Given the description of an element on the screen output the (x, y) to click on. 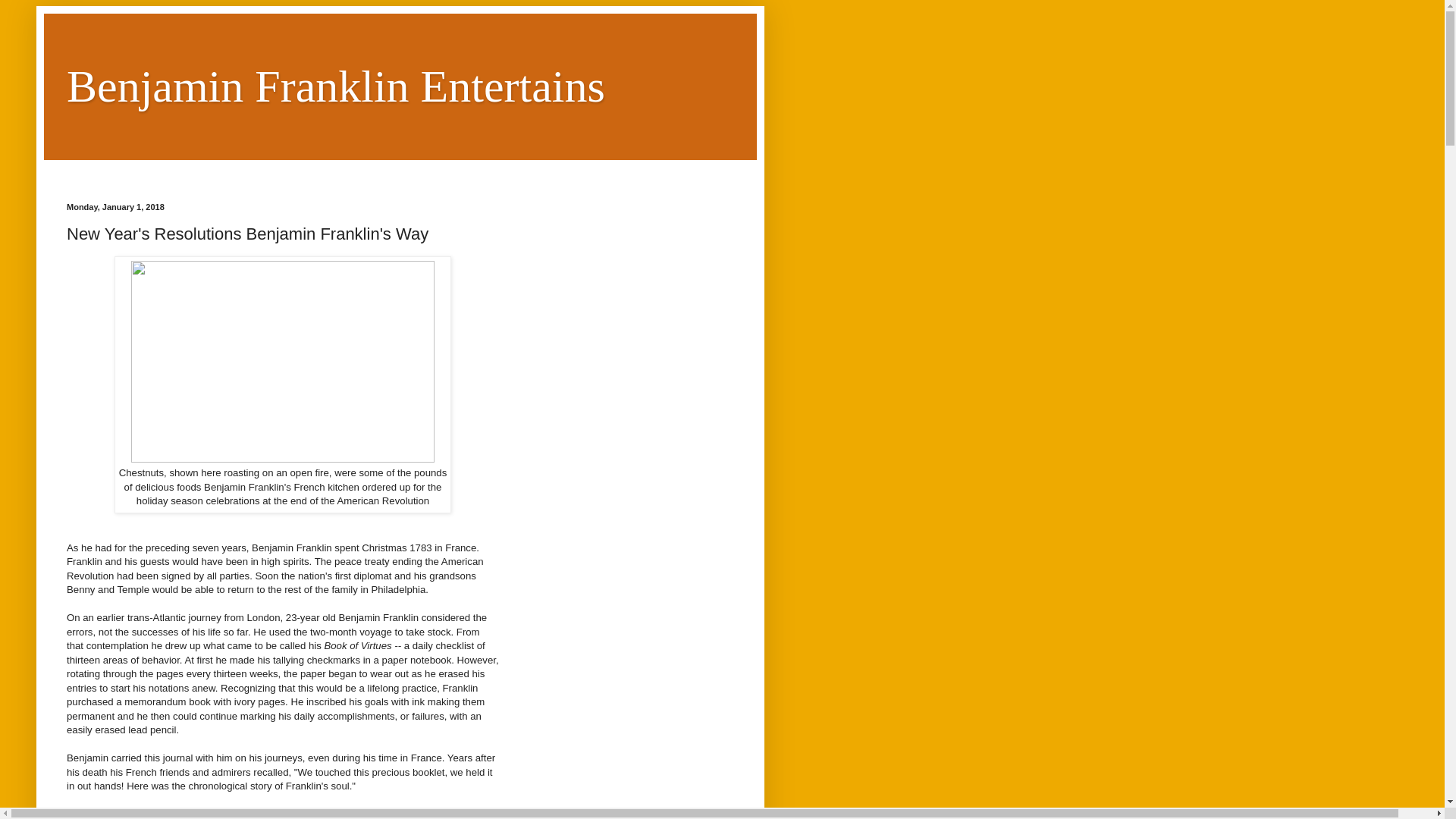
Benjamin Franklin Entertains (335, 86)
